Given the description of an element on the screen output the (x, y) to click on. 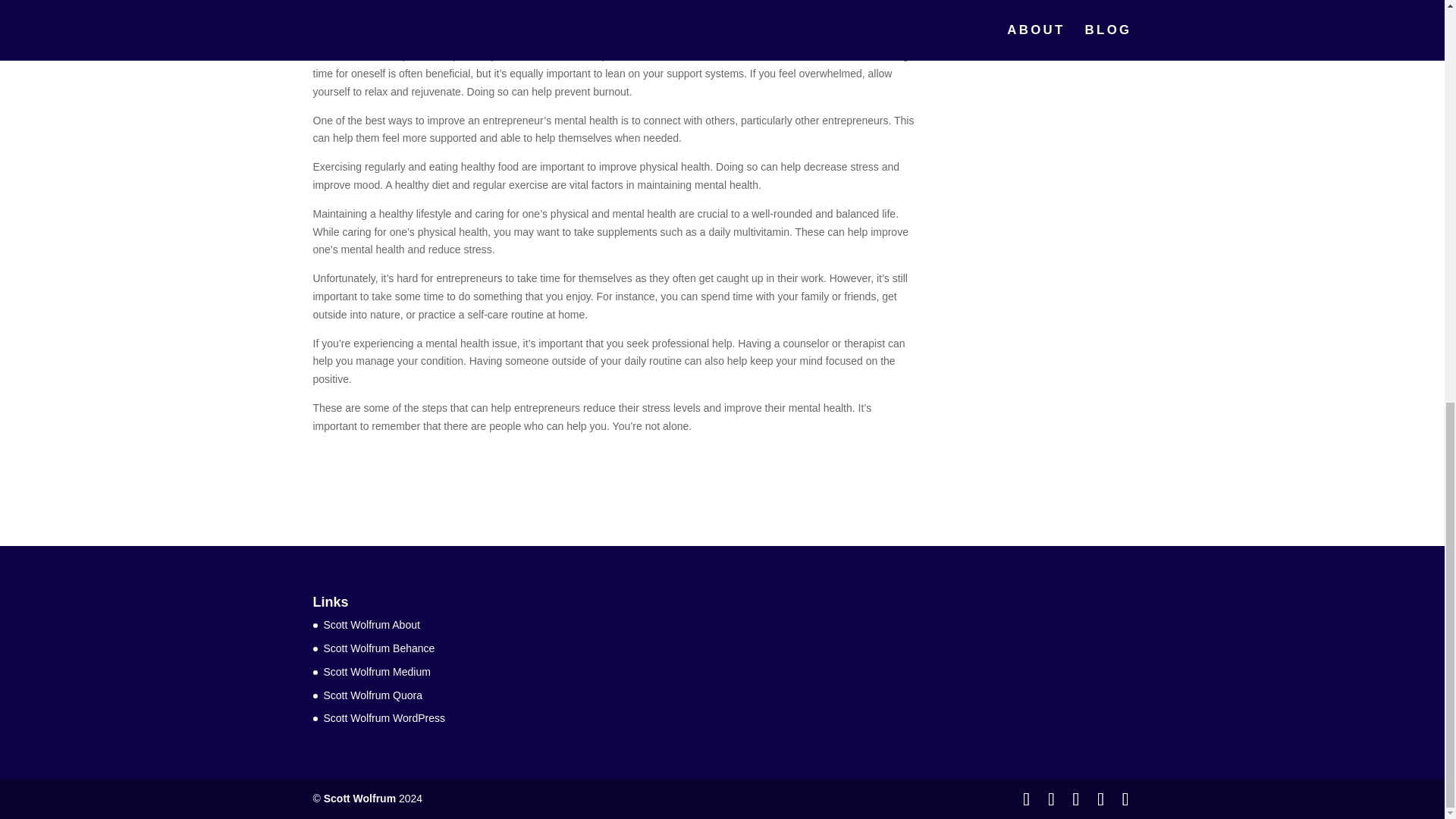
Scott Wolfrum Medium (376, 671)
Scott Wolfrum WordPress (384, 717)
Scott Wolfrum Quora (372, 695)
Scott Wolfrum Behance (378, 648)
Scott Wolfrum About (371, 624)
Scott Wolfrum (359, 798)
So how can entrepreneurs manage their mental health? (444, 26)
